Given the description of an element on the screen output the (x, y) to click on. 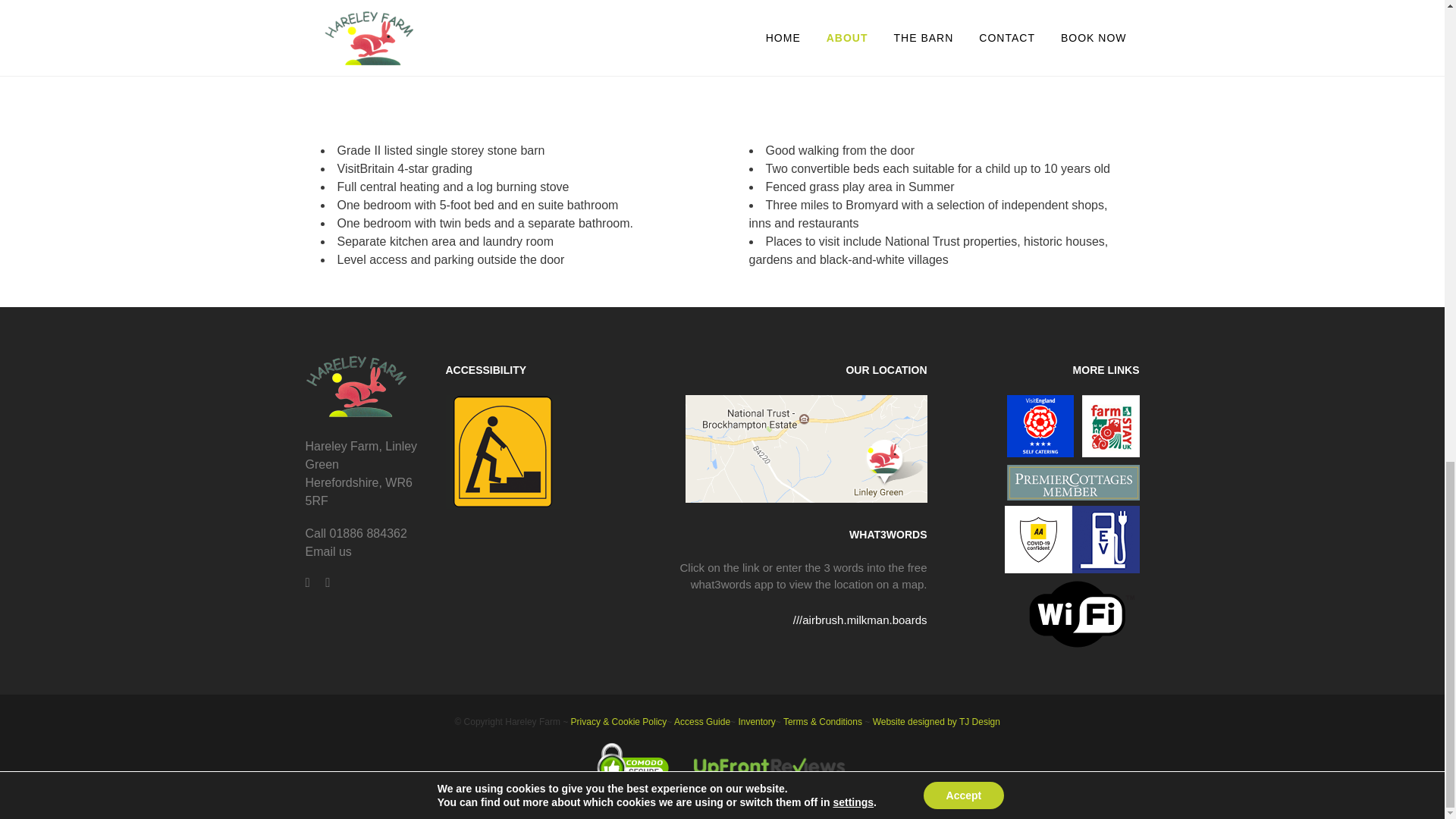
Access Guide (702, 721)
Email us (327, 551)
Website designed by TJ Design (936, 721)
Inventory (756, 721)
